Given the description of an element on the screen output the (x, y) to click on. 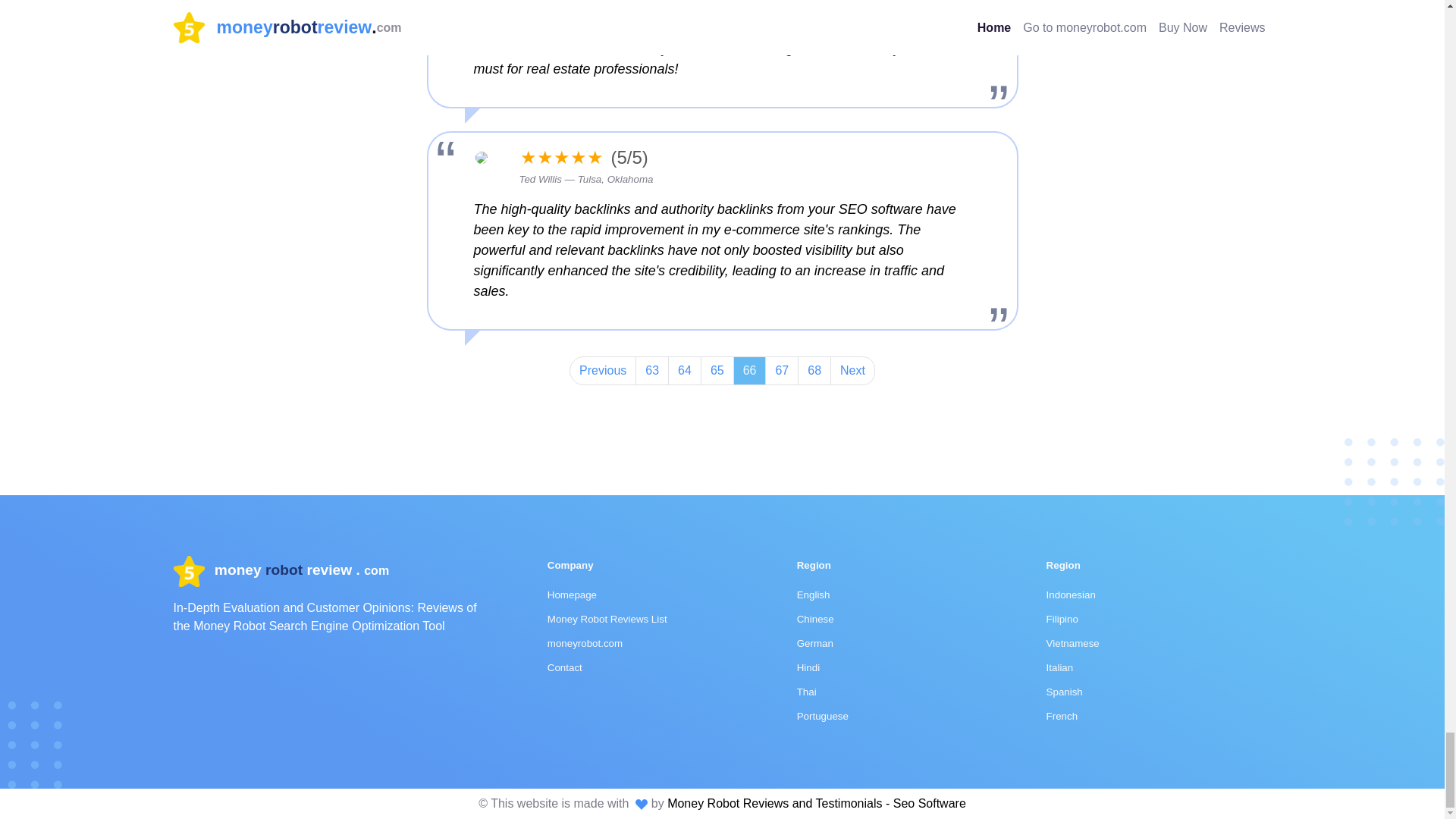
German (814, 643)
Next (852, 370)
moneyrobot.com (585, 643)
Hindi (807, 667)
64 (684, 370)
Vietnamese (1072, 643)
Filipino (1062, 618)
68 (814, 370)
Italian (1060, 667)
Indonesian (1071, 594)
Spanish (1064, 691)
Contact (564, 667)
Money Robot Reviews and Testimonials - Seo Software (816, 802)
Thai (806, 691)
Chinese (815, 618)
